Given the description of an element on the screen output the (x, y) to click on. 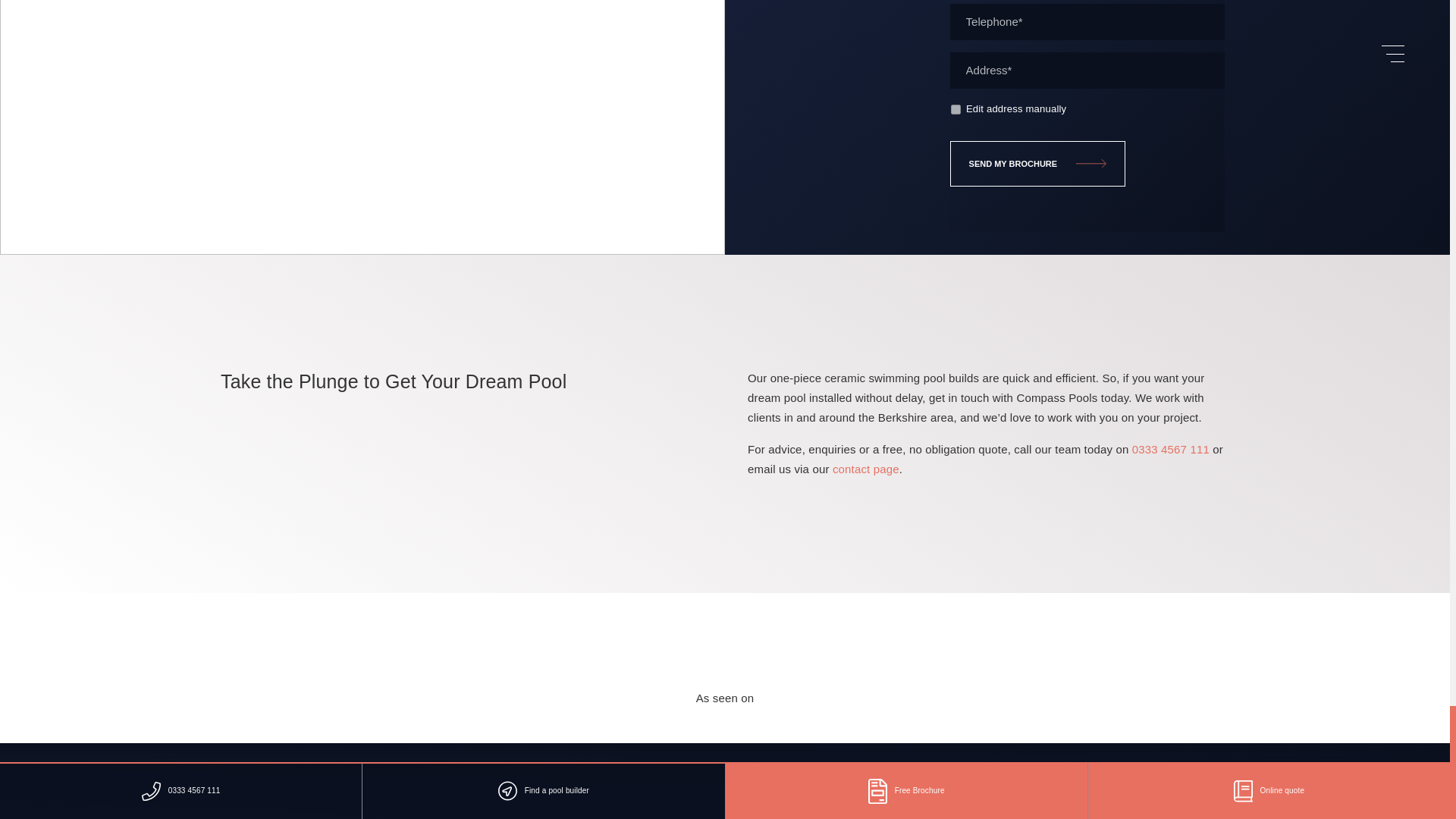
Edit address manually (955, 109)
contact page (865, 468)
0333 4567 111 (1170, 449)
SEND MY BROCHURE (1037, 163)
